Given the description of an element on the screen output the (x, y) to click on. 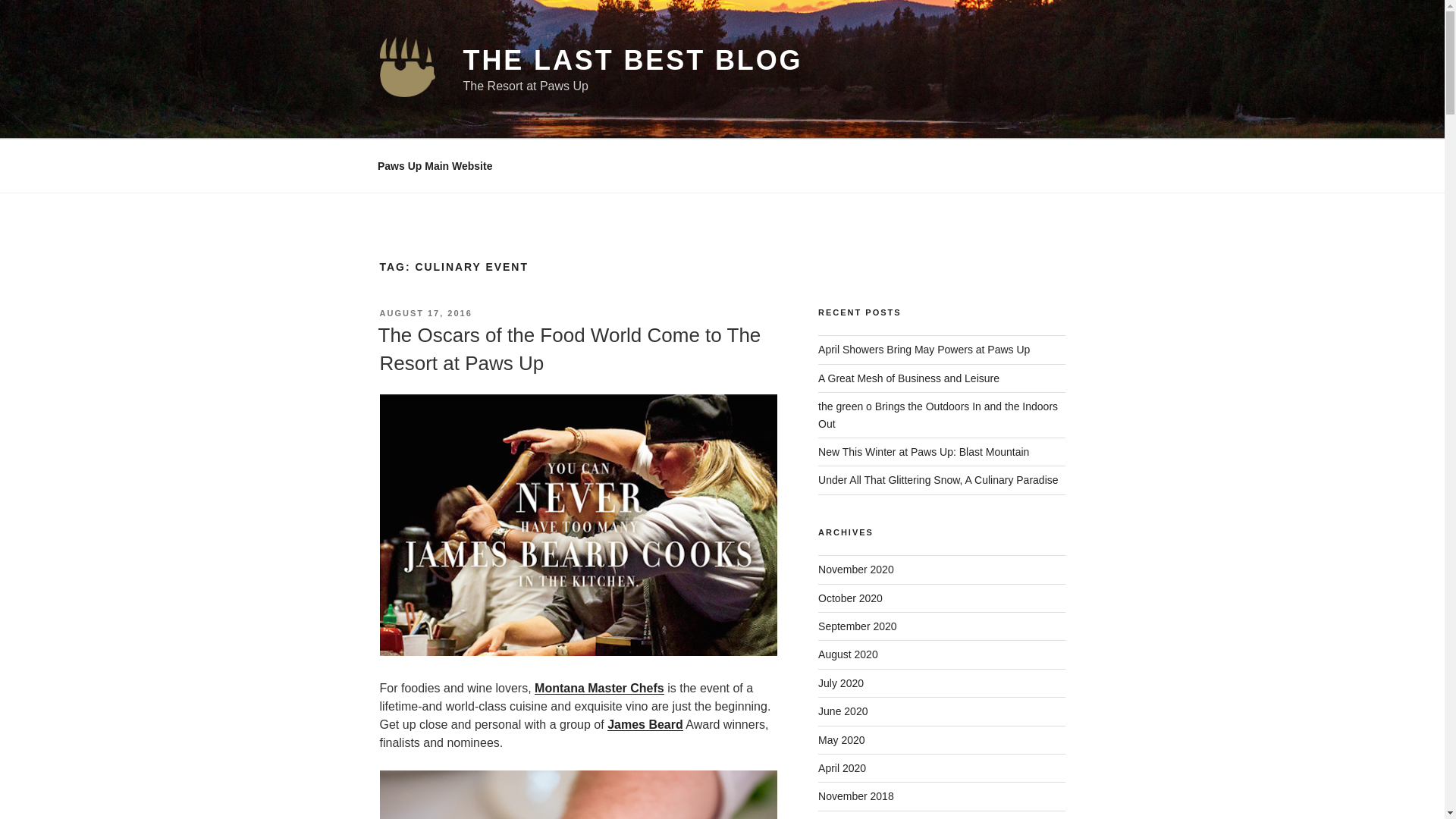
James Beard (644, 724)
Montana Master Chefs (598, 687)
A Great Mesh of Business and Leisure (908, 378)
April Showers Bring May Powers at Paws Up (923, 349)
Paws Up Main Website (434, 165)
The Oscars of the Food World Come to The Resort at Paws Up (568, 348)
the green o Brings the Outdoors In and the Indoors Out (938, 414)
AUGUST 17, 2016 (424, 312)
THE LAST BEST BLOG (633, 60)
